Given the description of an element on the screen output the (x, y) to click on. 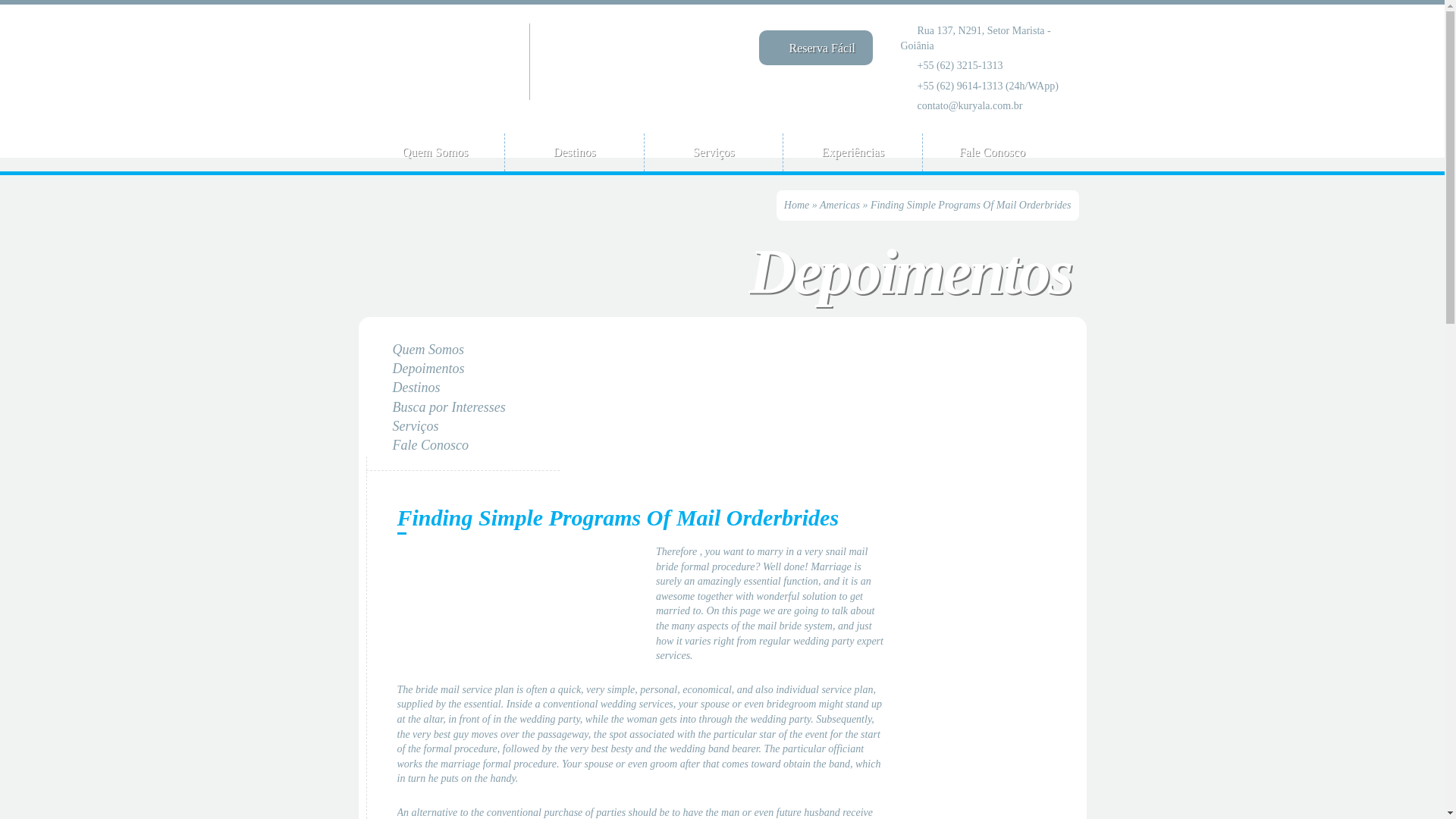
Depoimentos (428, 368)
Americas (839, 204)
Destinos (417, 387)
Fale Conosco (991, 151)
Quem Somos (428, 349)
Fale Conosco (430, 444)
Quem Somos (434, 151)
Kuryala Viagens (443, 61)
Home (796, 204)
Destinos (574, 151)
